Given the description of an element on the screen output the (x, y) to click on. 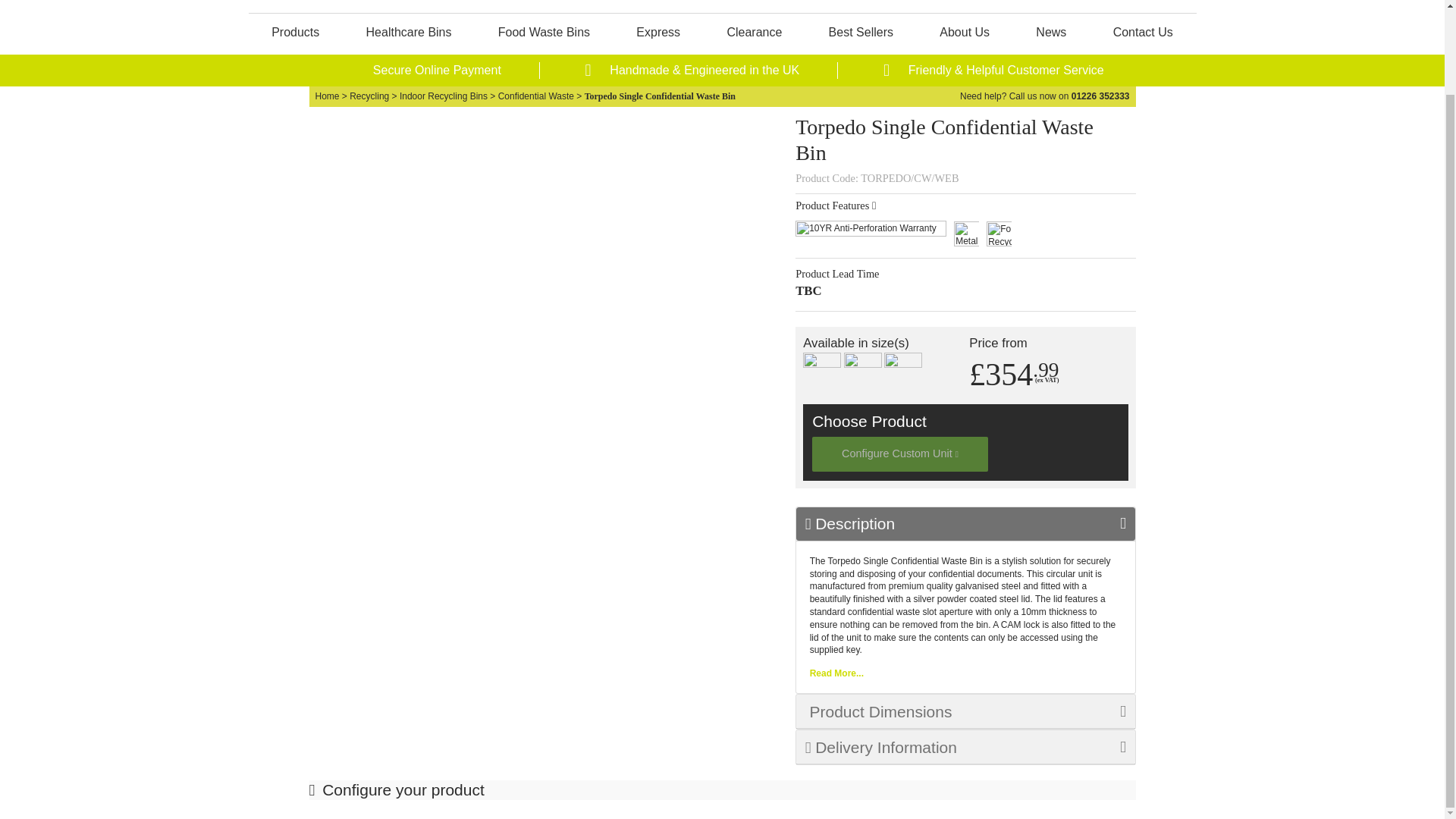
Go to Wybone. (327, 95)
Go to the Confidential Waste Product Category. (535, 95)
For Recycling (999, 233)
Go to the Recycling Product Category. (368, 95)
Metal (965, 233)
Go to the Indoor Recycling Bins Product Category. (442, 95)
10YR Anti-Perforation Warranty (870, 233)
